Given the description of an element on the screen output the (x, y) to click on. 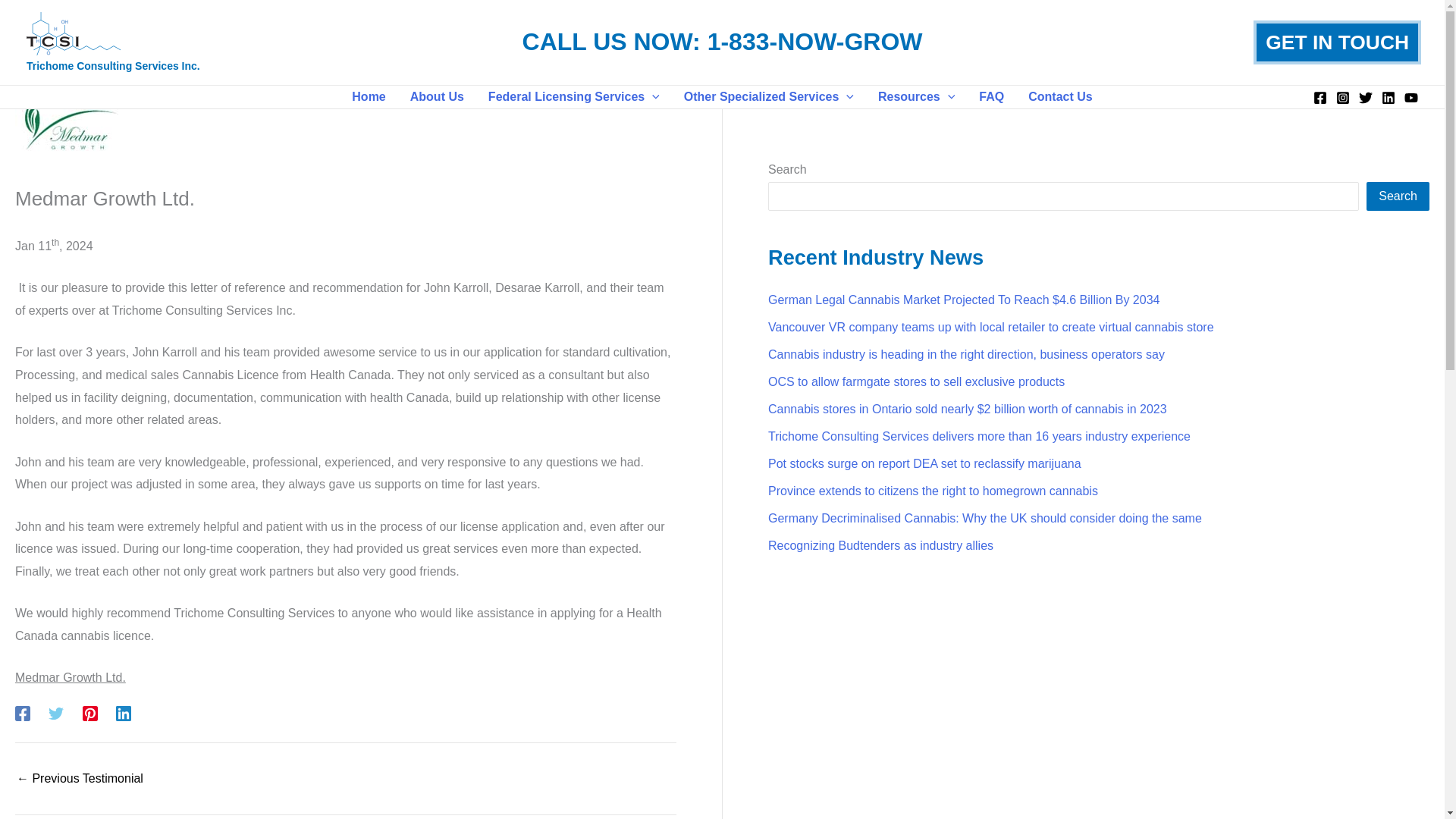
Green Karat (79, 778)
Federal Licensing Services (573, 96)
GET IN TOUCH (1337, 42)
1-833-NOW-GROW (815, 41)
Other Specialized Services (768, 96)
Home (368, 96)
About Us (436, 96)
Trichome Consulting Services Inc. (113, 64)
